Given the description of an element on the screen output the (x, y) to click on. 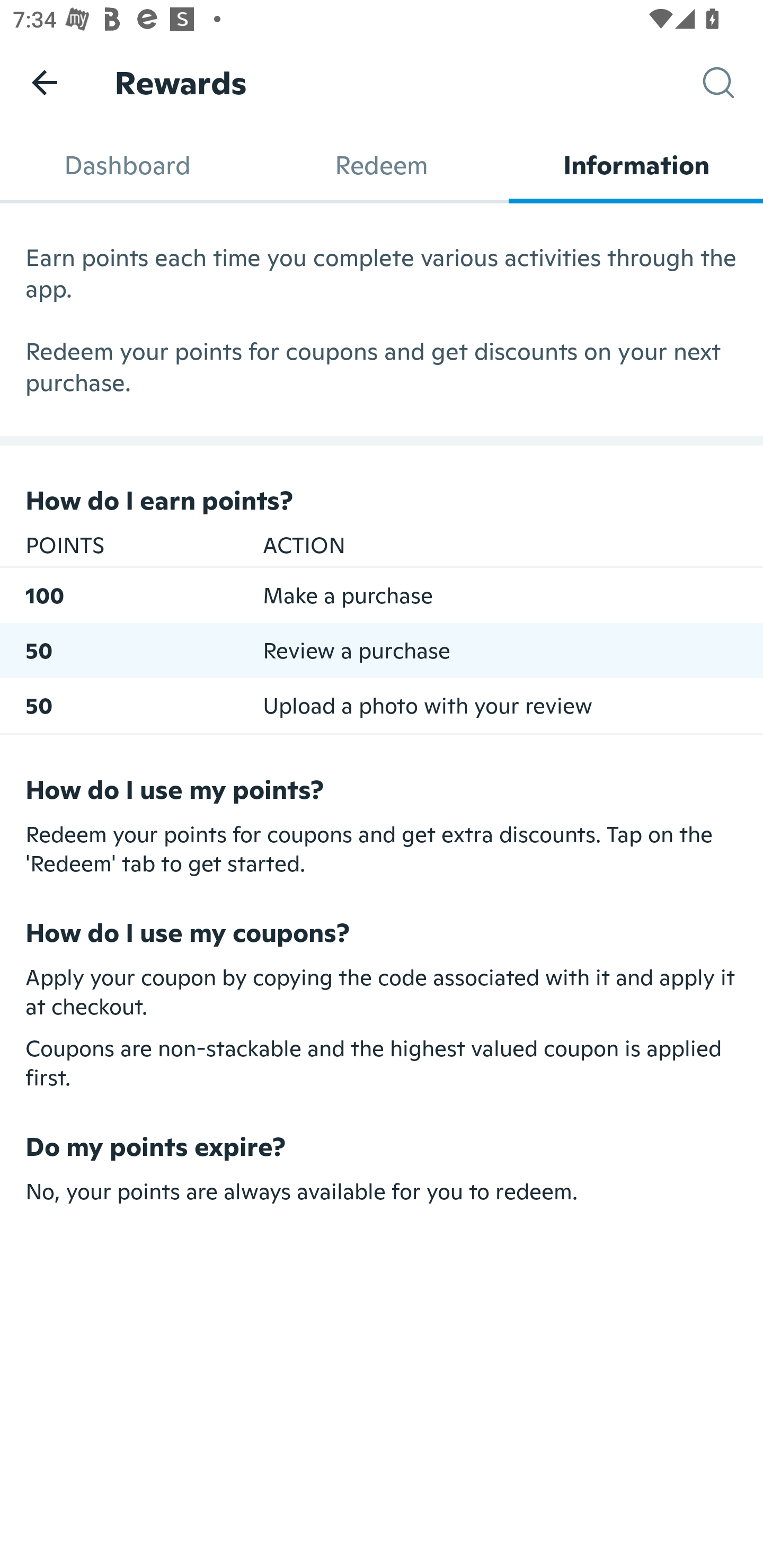
Navigate up (44, 82)
Search (732, 82)
Dashboard (127, 165)
Redeem (381, 165)
Information (635, 165)
